Given the description of an element on the screen output the (x, y) to click on. 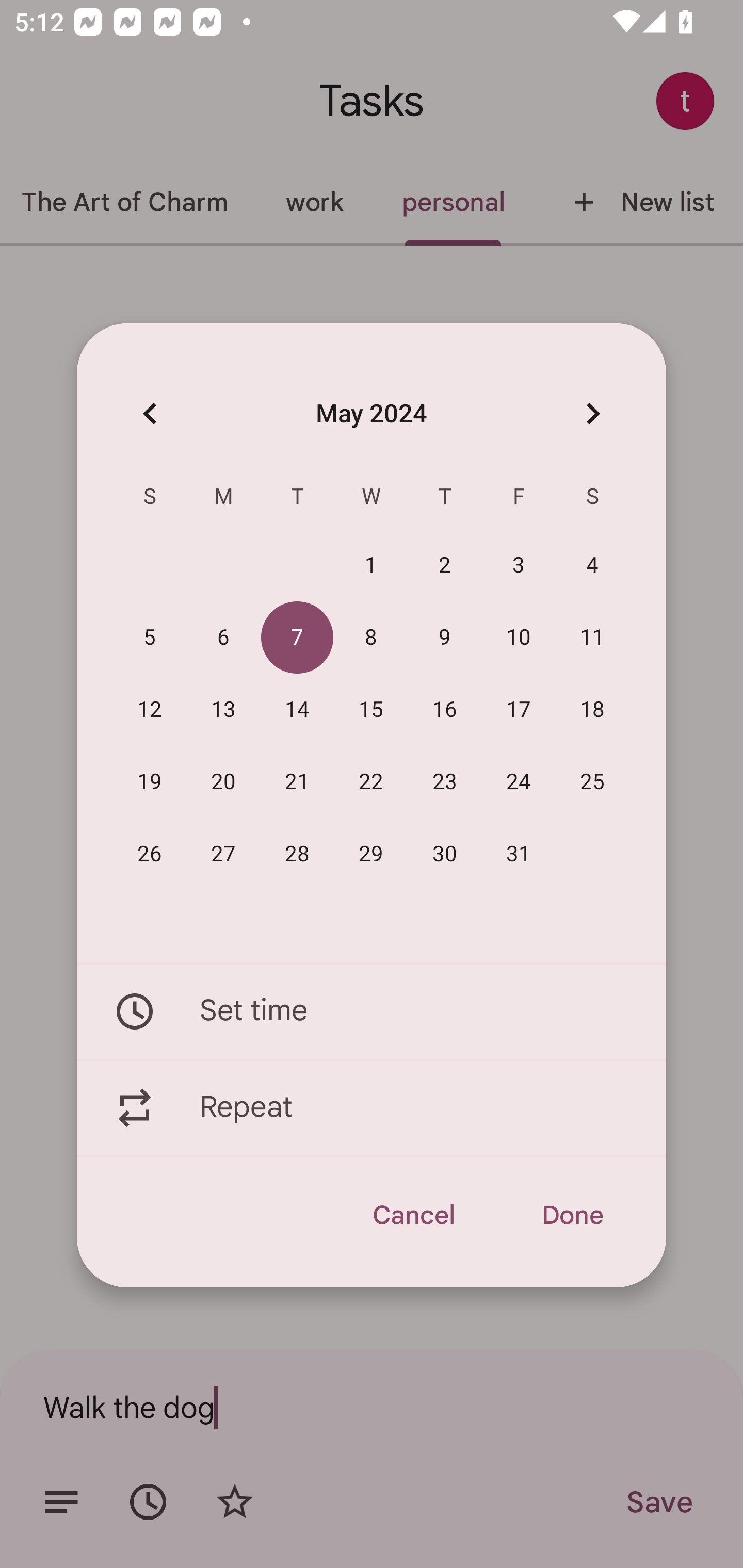
Previous month (149, 413)
Next month (592, 413)
1 01 May 2024 (370, 565)
2 02 May 2024 (444, 565)
3 03 May 2024 (518, 565)
4 04 May 2024 (592, 565)
5 05 May 2024 (149, 638)
6 06 May 2024 (223, 638)
7 07 May 2024 (297, 638)
8 08 May 2024 (370, 638)
9 09 May 2024 (444, 638)
10 10 May 2024 (518, 638)
11 11 May 2024 (592, 638)
12 12 May 2024 (149, 710)
13 13 May 2024 (223, 710)
14 14 May 2024 (297, 710)
15 15 May 2024 (370, 710)
16 16 May 2024 (444, 710)
17 17 May 2024 (518, 710)
18 18 May 2024 (592, 710)
19 19 May 2024 (149, 782)
20 20 May 2024 (223, 782)
21 21 May 2024 (297, 782)
22 22 May 2024 (370, 782)
23 23 May 2024 (444, 782)
24 24 May 2024 (518, 782)
25 25 May 2024 (592, 782)
26 26 May 2024 (149, 854)
27 27 May 2024 (223, 854)
28 28 May 2024 (297, 854)
29 29 May 2024 (370, 854)
30 30 May 2024 (444, 854)
31 31 May 2024 (518, 854)
Set time (371, 1011)
Repeat (371, 1108)
Cancel (412, 1215)
Done (571, 1215)
